Given the description of an element on the screen output the (x, y) to click on. 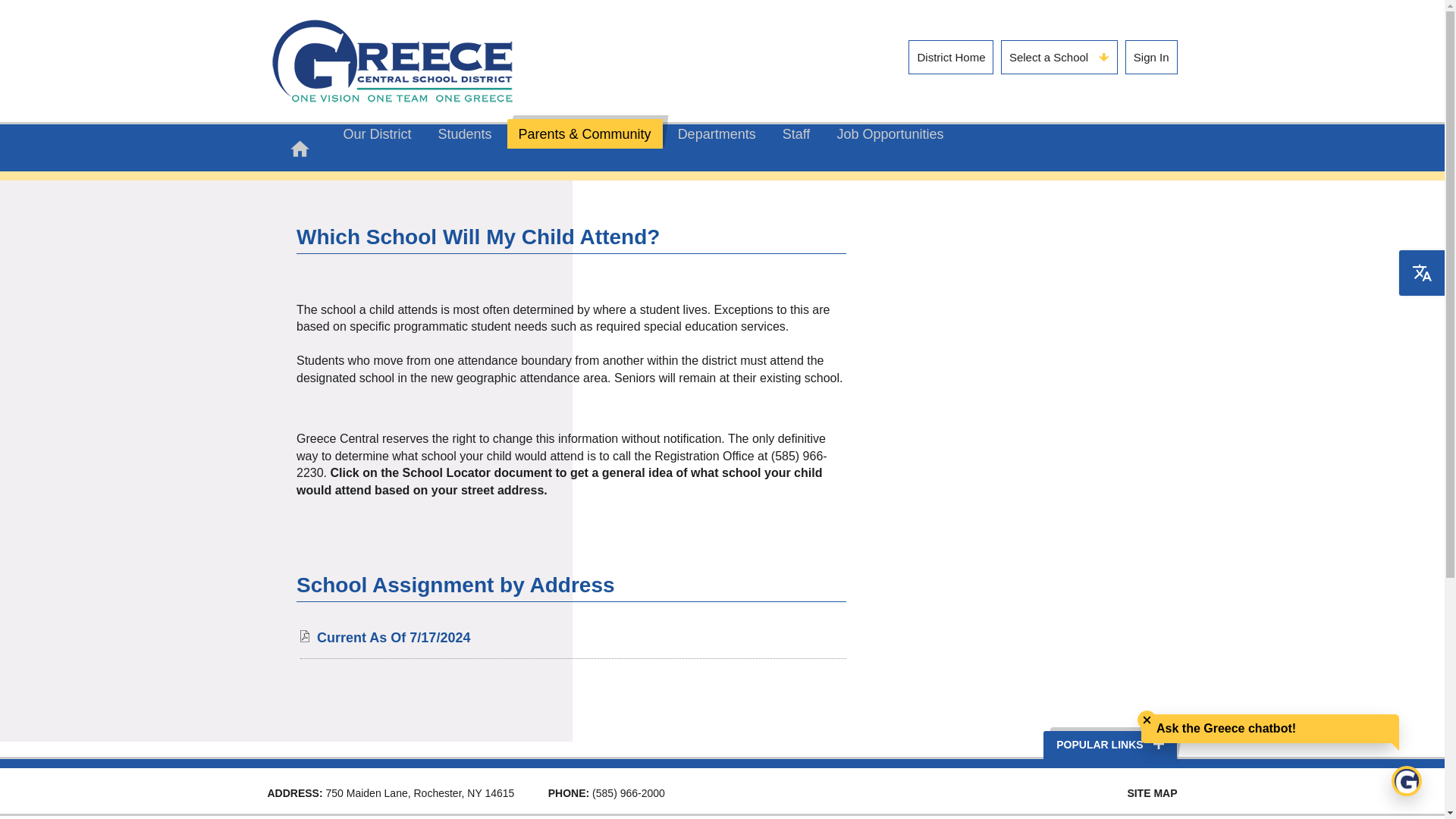
Select a School (1058, 56)
District Home (950, 56)
Greece Central School District (391, 60)
